Given the description of an element on the screen output the (x, y) to click on. 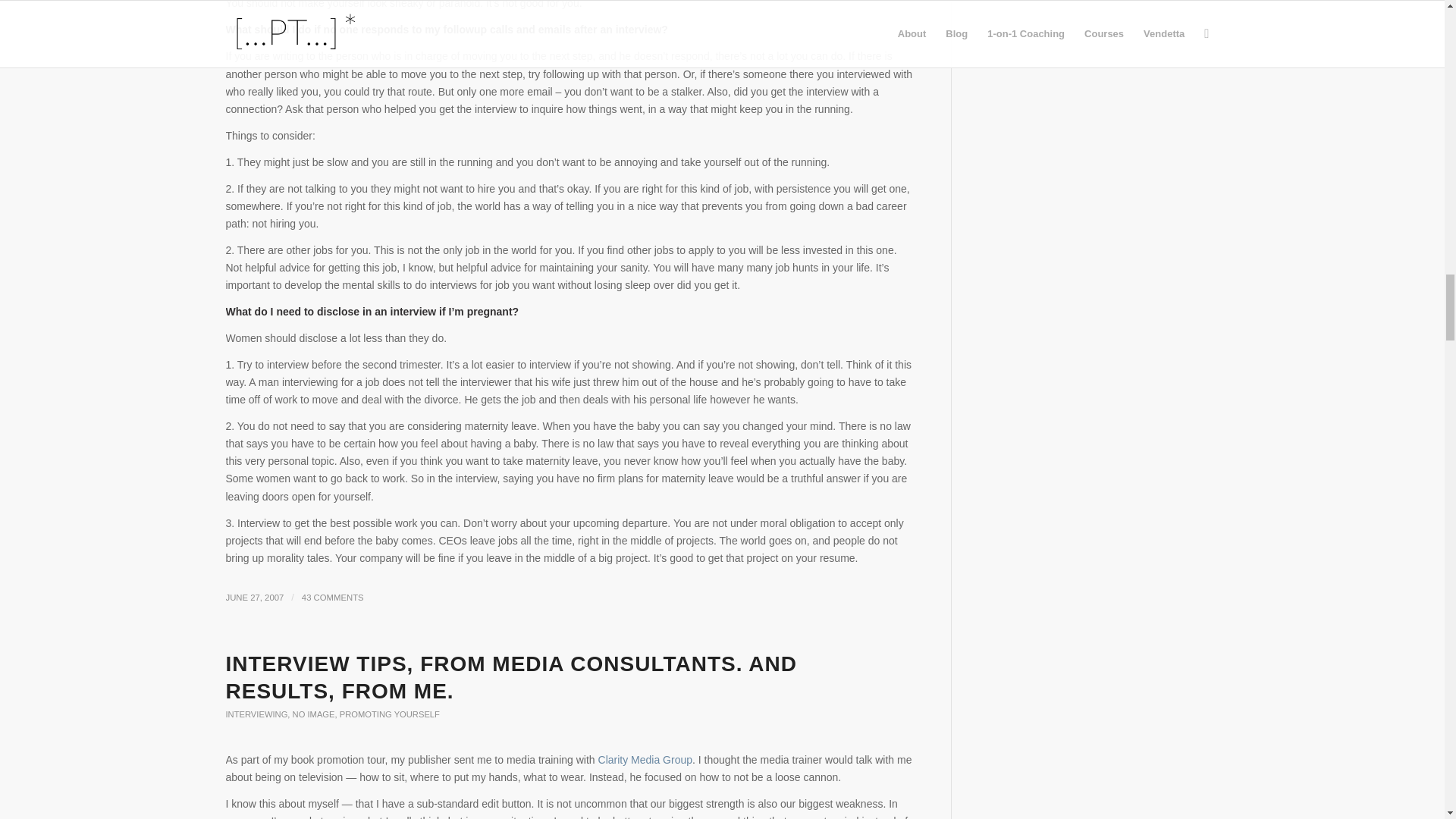
43 COMMENTS (332, 596)
